Given the description of an element on the screen output the (x, y) to click on. 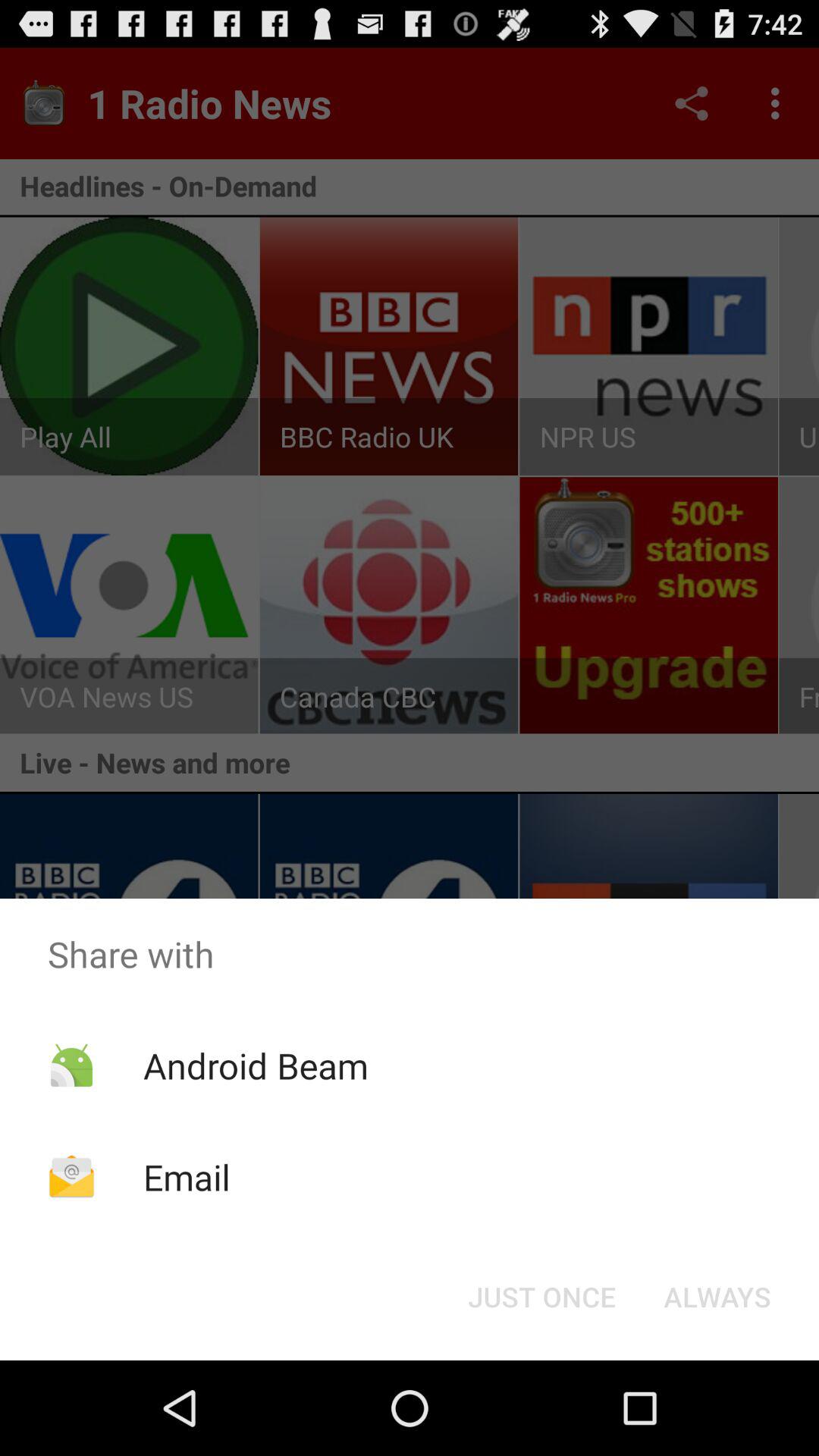
scroll to the always (717, 1296)
